Given the description of an element on the screen output the (x, y) to click on. 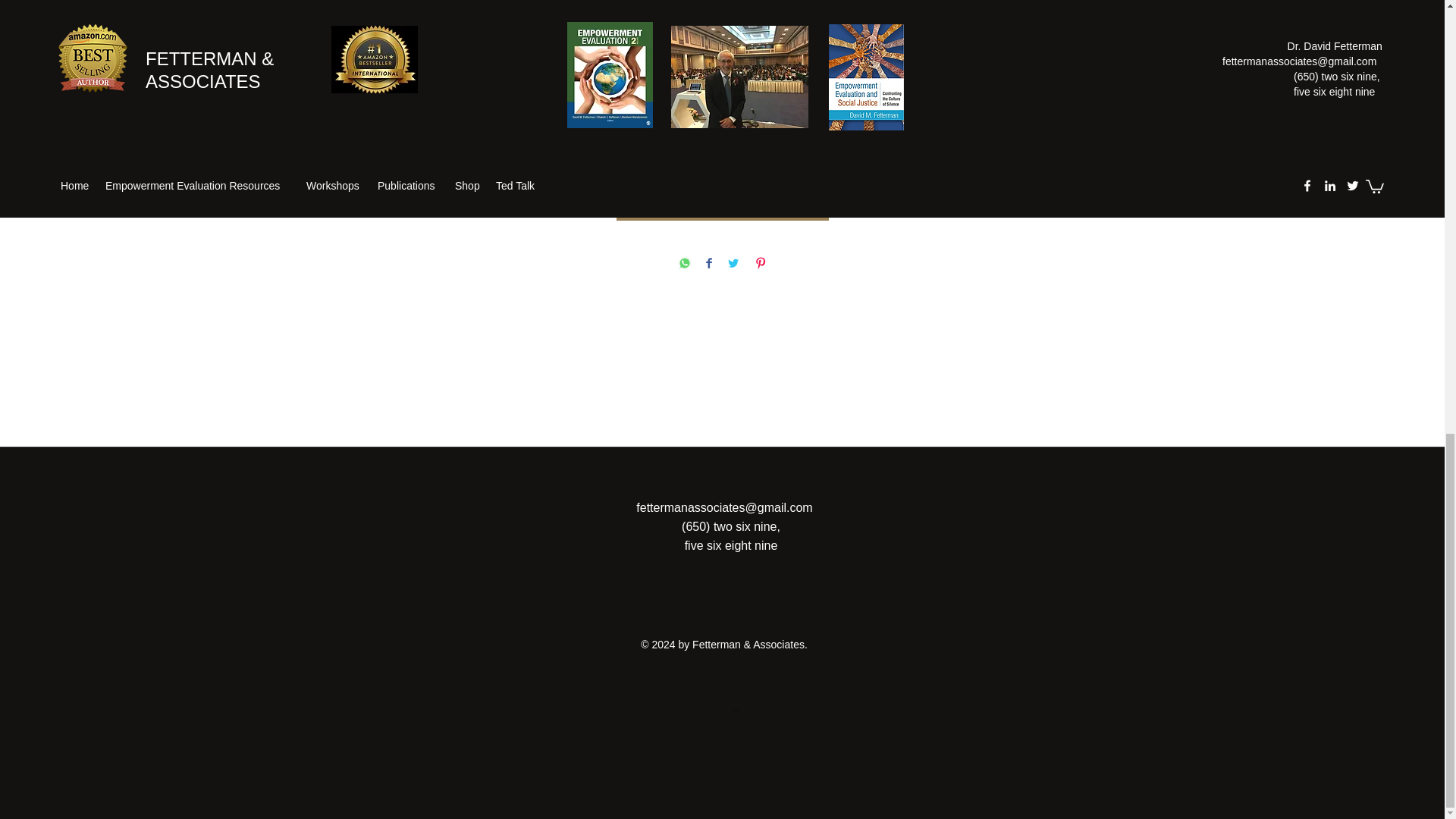
1 (721, 148)
